Given the description of an element on the screen output the (x, y) to click on. 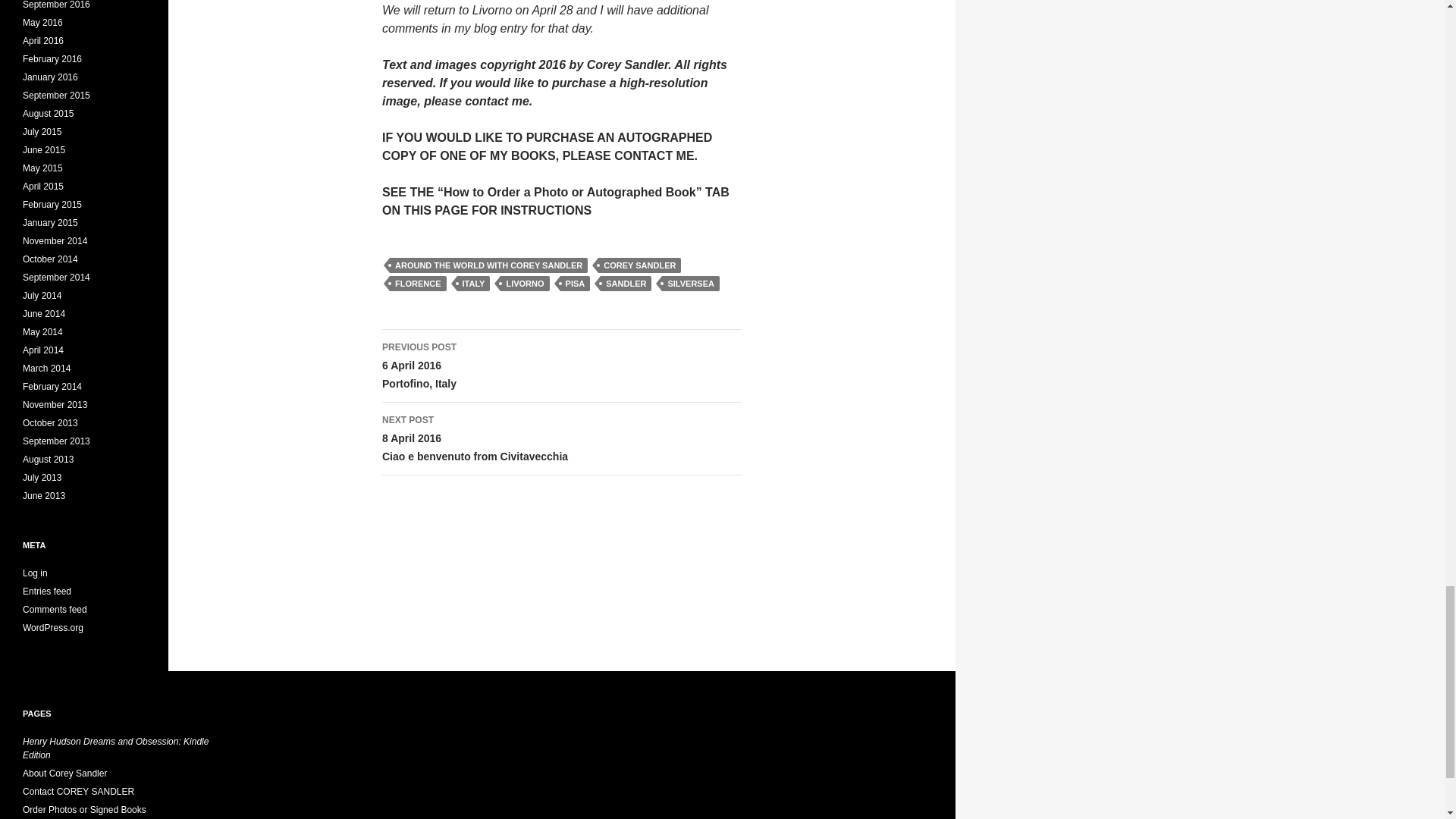
ITALY (473, 283)
SANDLER (624, 283)
FLORENCE (418, 283)
PISA (575, 283)
LIVORNO (524, 283)
COREY SANDLER (639, 264)
SILVERSEA (561, 366)
AROUND THE WORLD WITH COREY SANDLER (690, 283)
